Given the description of an element on the screen output the (x, y) to click on. 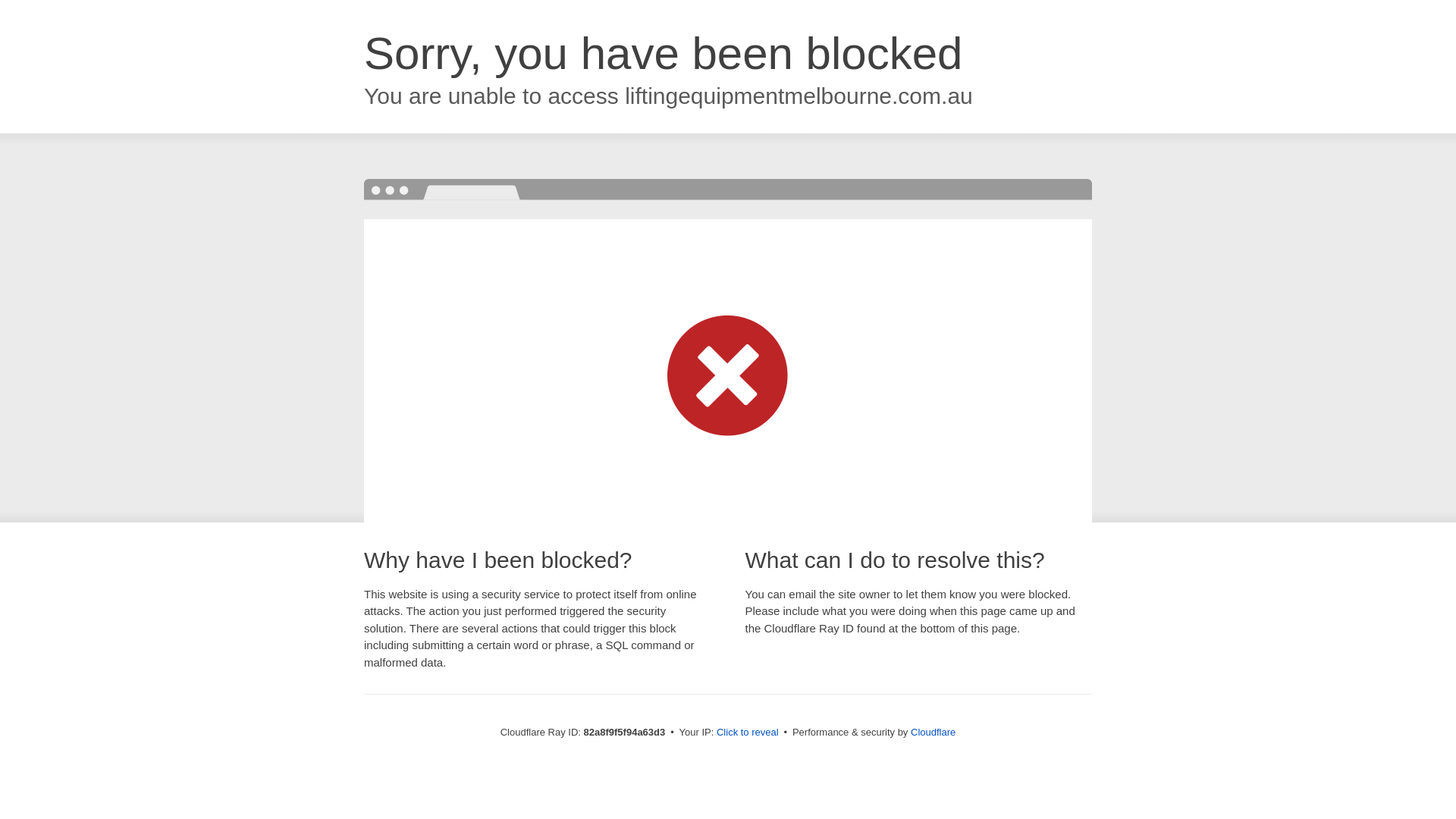
Cloudflare Element type: text (932, 731)
Click to reveal Element type: text (747, 732)
